Given the description of an element on the screen output the (x, y) to click on. 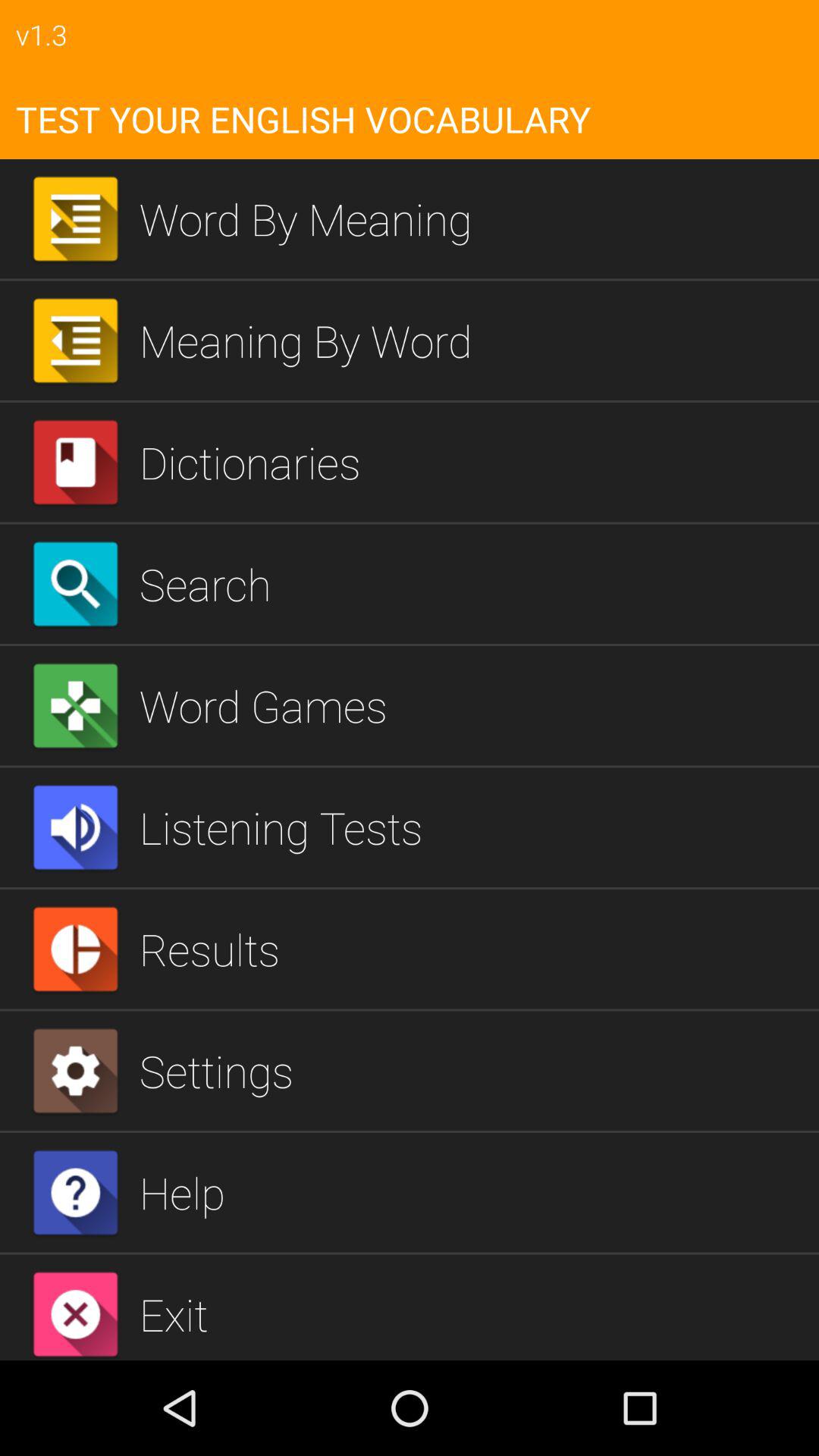
scroll to the word games app (473, 705)
